Given the description of an element on the screen output the (x, y) to click on. 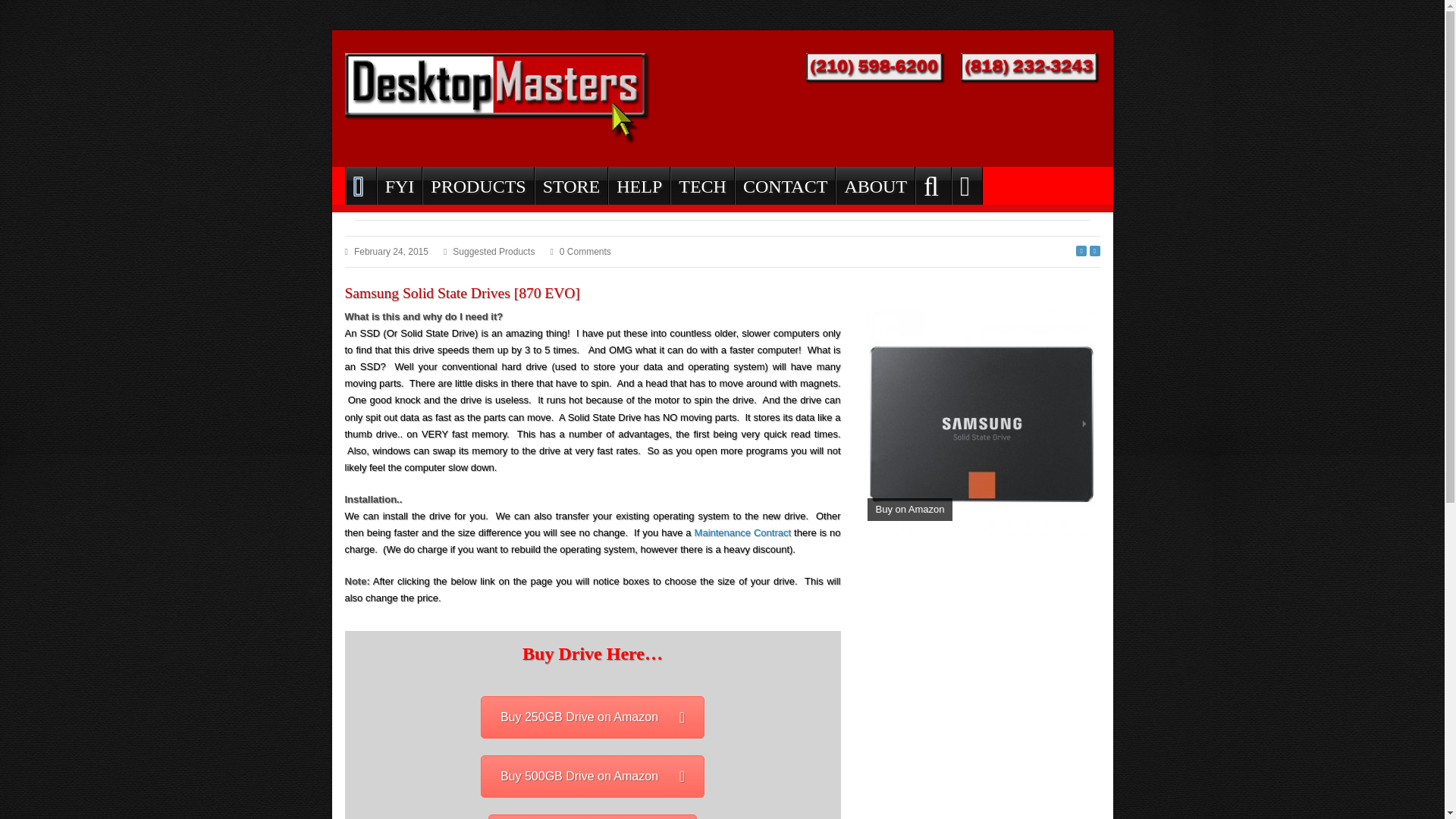
Buy on Amazon (980, 422)
STORE (571, 185)
ABOUT (874, 185)
Search Site (932, 185)
FYI (399, 185)
Technical Documentation (701, 185)
Go to Amazon (592, 816)
Go to Amazon (592, 776)
Desktop Masters (496, 98)
Service Plans (743, 532)
